Given the description of an element on the screen output the (x, y) to click on. 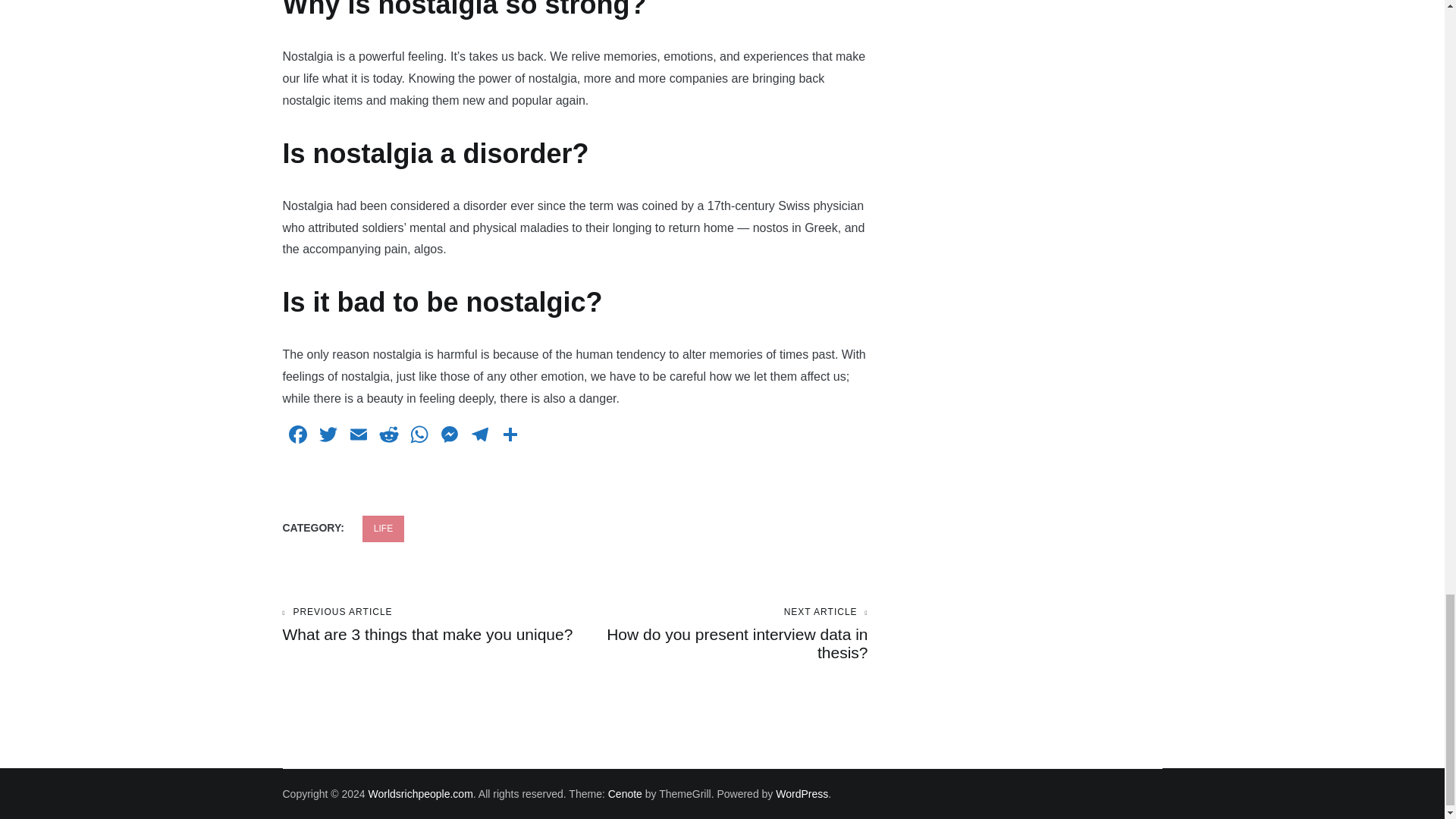
Messenger (448, 436)
Email (357, 436)
Telegram (479, 436)
Facebook (297, 436)
Messenger (448, 436)
Twitter (327, 436)
Facebook (297, 436)
Reddit (387, 436)
WhatsApp (418, 436)
WhatsApp (418, 436)
